Given the description of an element on the screen output the (x, y) to click on. 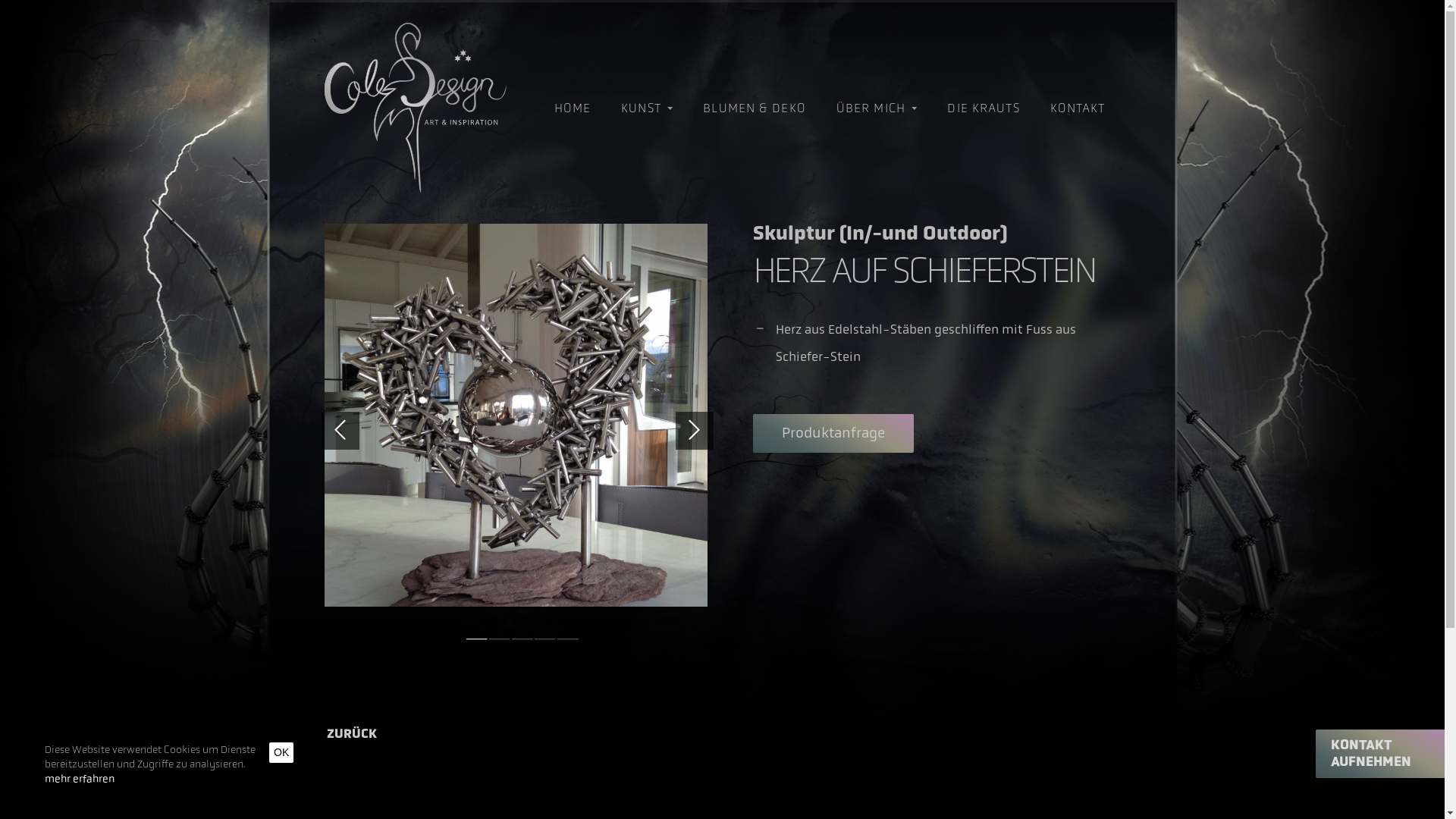
DIE KRAUTS Element type: text (982, 107)
BLUMEN & DEKO Element type: text (754, 107)
OK Element type: text (281, 752)
KUNST Element type: text (646, 107)
Next Element type: text (694, 430)
mehr erfahren Element type: text (79, 774)
HOME Element type: text (572, 107)
Produktanfrage Element type: text (832, 433)
Previous Element type: text (340, 430)
KONTAKT Element type: text (1077, 107)
KONTAKT AUFNEHMEN Element type: text (1383, 753)
